Given the description of an element on the screen output the (x, y) to click on. 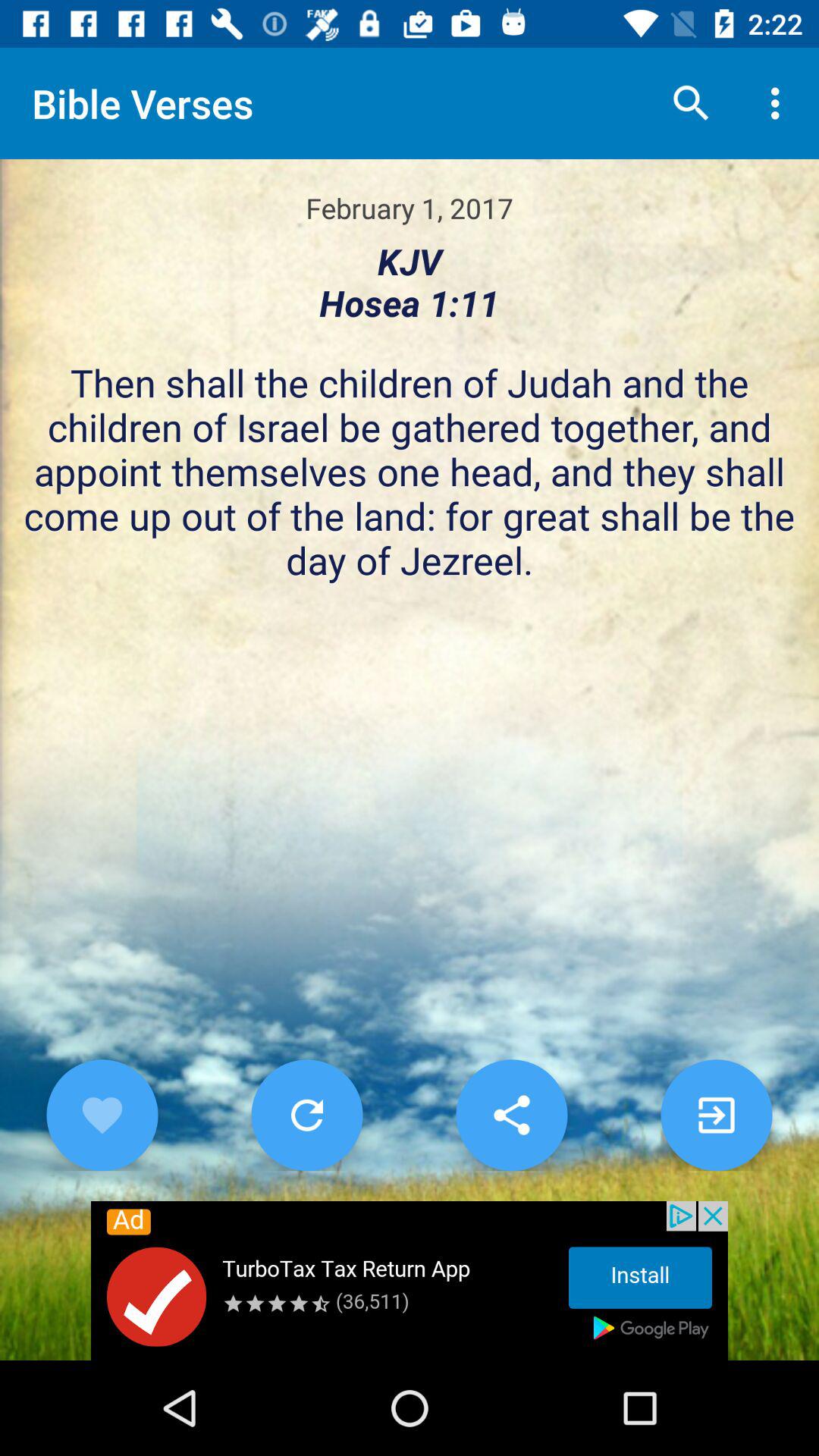
share (511, 1115)
